Given the description of an element on the screen output the (x, y) to click on. 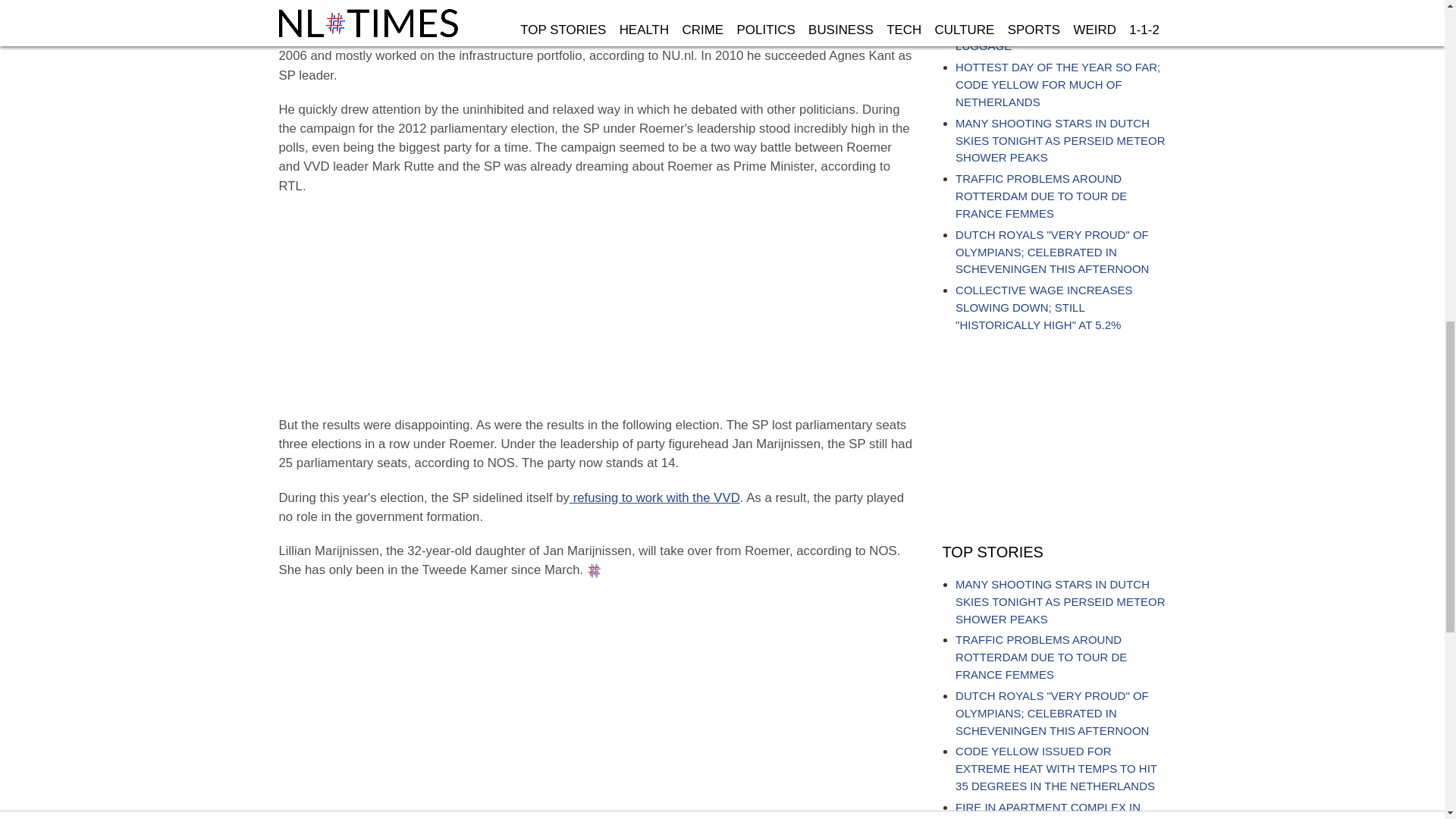
refusing to work with the VVD (654, 497)
